Given the description of an element on the screen output the (x, y) to click on. 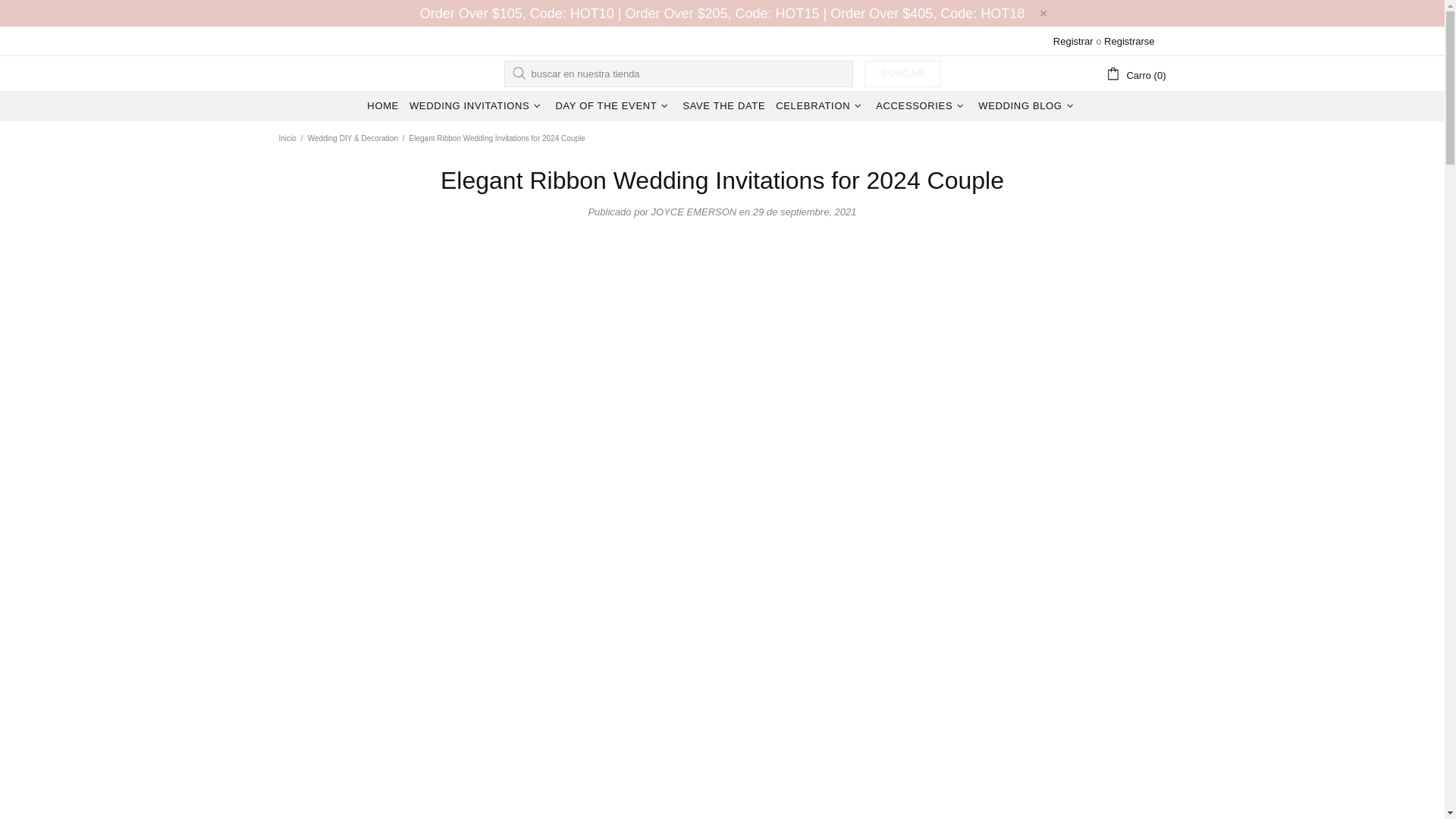
Registrar (1072, 41)
WEDDING INVITATIONS (477, 105)
Clear Wedding Invites (317, 73)
CELEBRATION (820, 105)
DAY OF THE EVENT (613, 105)
Registrarse (1128, 41)
SAVE THE DATE (723, 105)
ACCESSORIES (921, 105)
HOME (382, 105)
BUSCAR (902, 73)
